Given the description of an element on the screen output the (x, y) to click on. 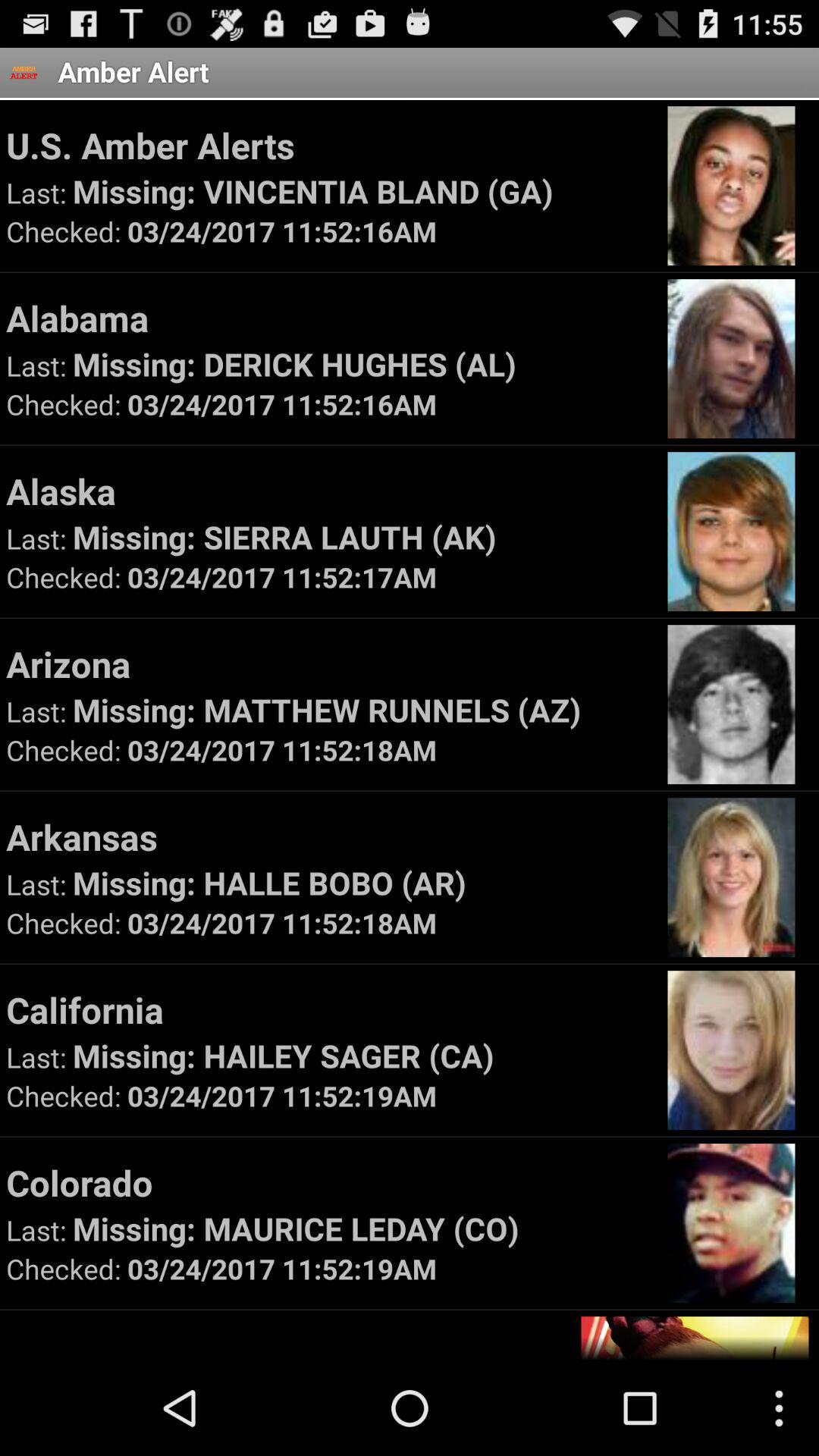
scroll until the arkansas (329, 836)
